Given the description of an element on the screen output the (x, y) to click on. 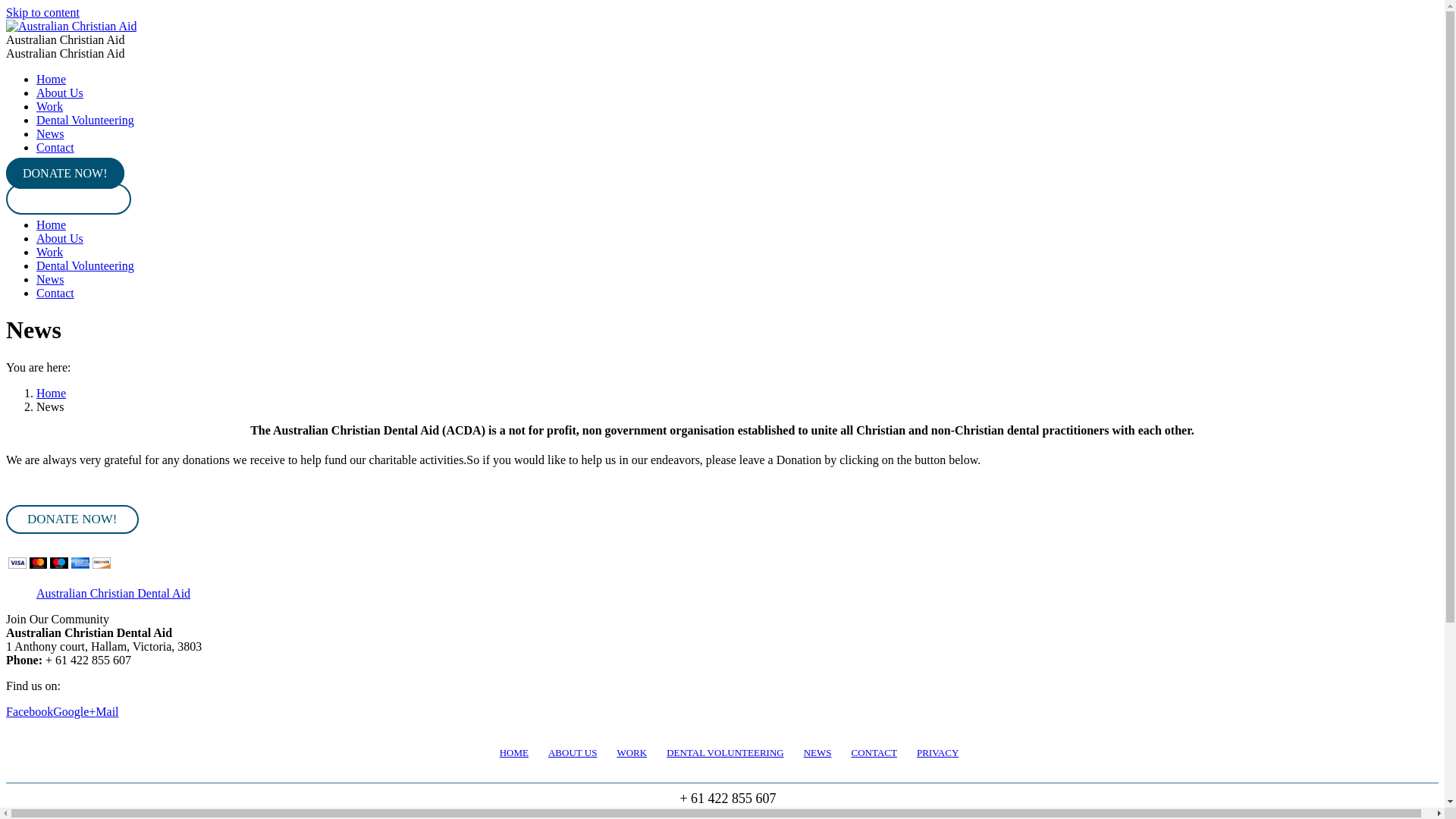
DENTAL VOLUNTEERING Element type: text (725, 752)
Google+ Element type: text (74, 711)
Mail Element type: text (106, 711)
About Us Element type: text (59, 92)
Facebook Element type: text (29, 711)
News Element type: text (49, 279)
Work Element type: text (49, 106)
WORK Element type: text (631, 752)
NEWS Element type: text (817, 752)
Dental Volunteering Element type: text (85, 119)
Australian Christian Dental Aid Element type: text (113, 592)
CONTACT Element type: text (874, 752)
Home Element type: text (50, 224)
Home Element type: text (50, 392)
Skip to content Element type: text (42, 12)
ABOUT US Element type: text (572, 752)
DONATE NOW! Element type: text (72, 519)
Contact Element type: text (55, 147)
+ 61 422 855 607 Element type: text (68, 198)
About Us Element type: text (59, 238)
Dental Volunteering Element type: text (85, 265)
Contact Element type: text (55, 292)
News Element type: text (49, 133)
DONATE NOW! Element type: text (65, 172)
HOME Element type: text (513, 752)
Work Element type: text (49, 251)
Home Element type: text (50, 78)
PRIVACY Element type: text (937, 752)
